Given the description of an element on the screen output the (x, y) to click on. 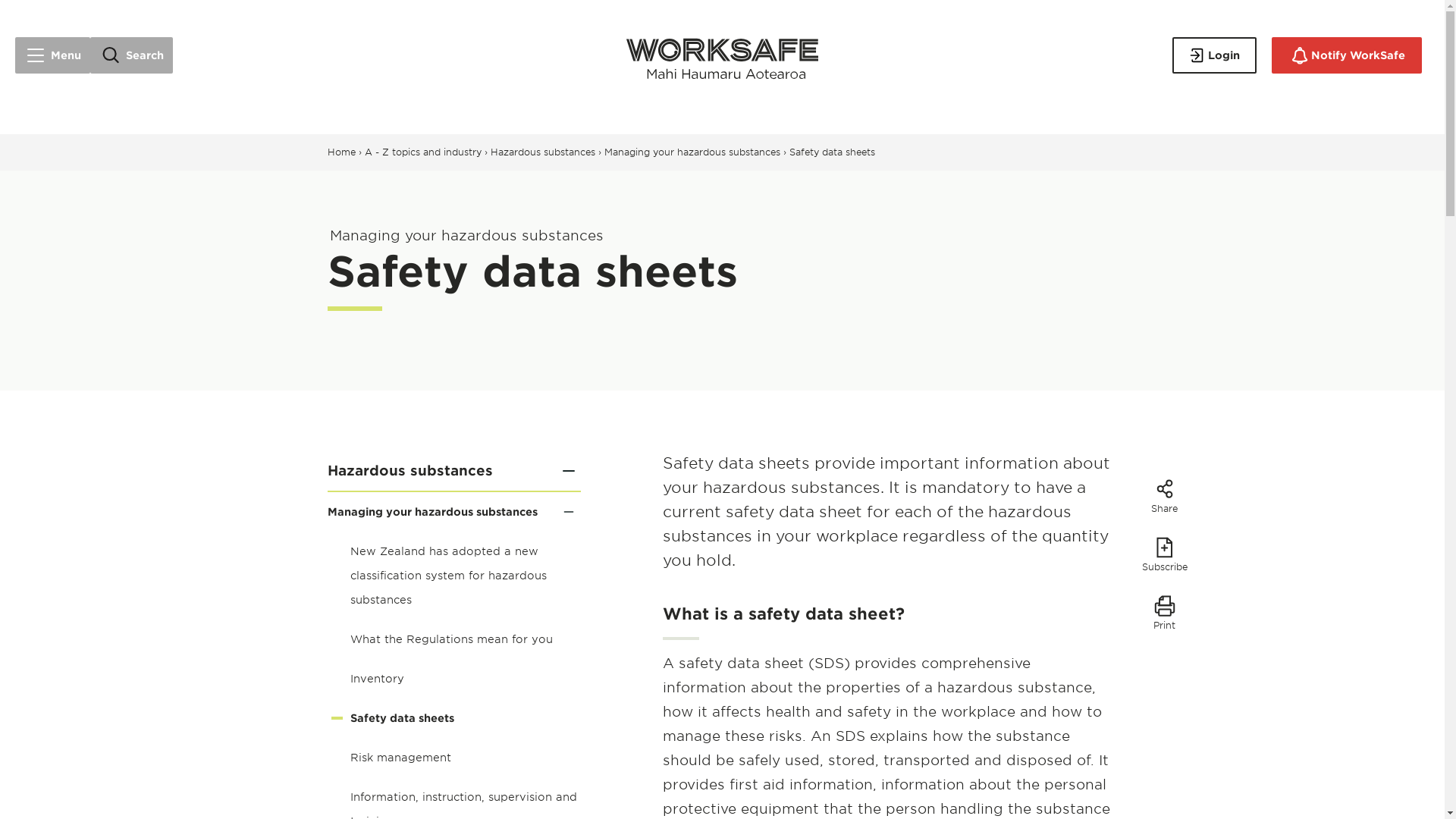
Link to home page (722, 54)
Notify WorkSafe (1346, 54)
Search (131, 54)
Login (1214, 54)
Menu (52, 54)
